Given the description of an element on the screen output the (x, y) to click on. 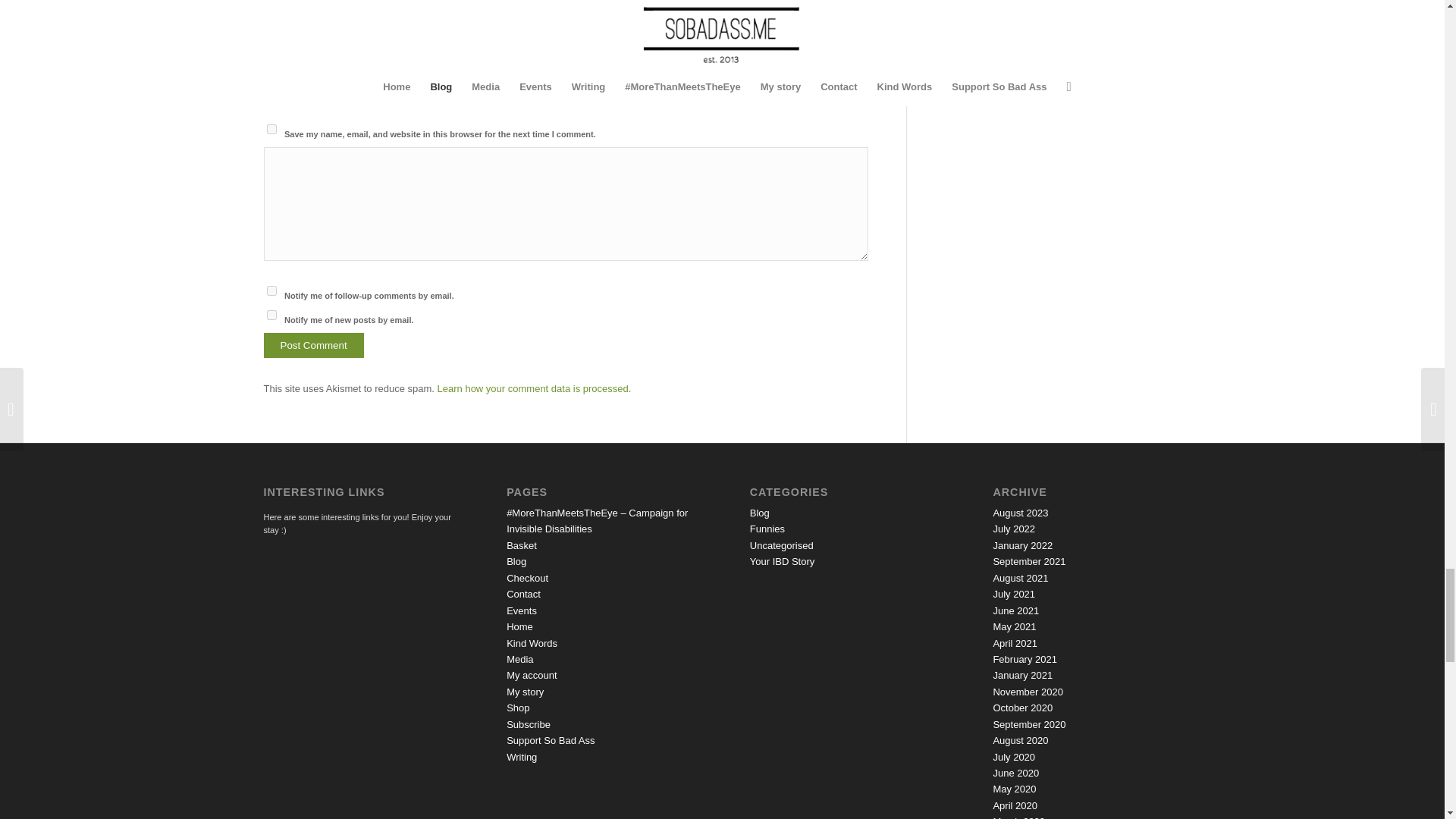
yes (271, 129)
Post Comment (313, 344)
subscribe (271, 315)
subscribe (271, 290)
